Given the description of an element on the screen output the (x, y) to click on. 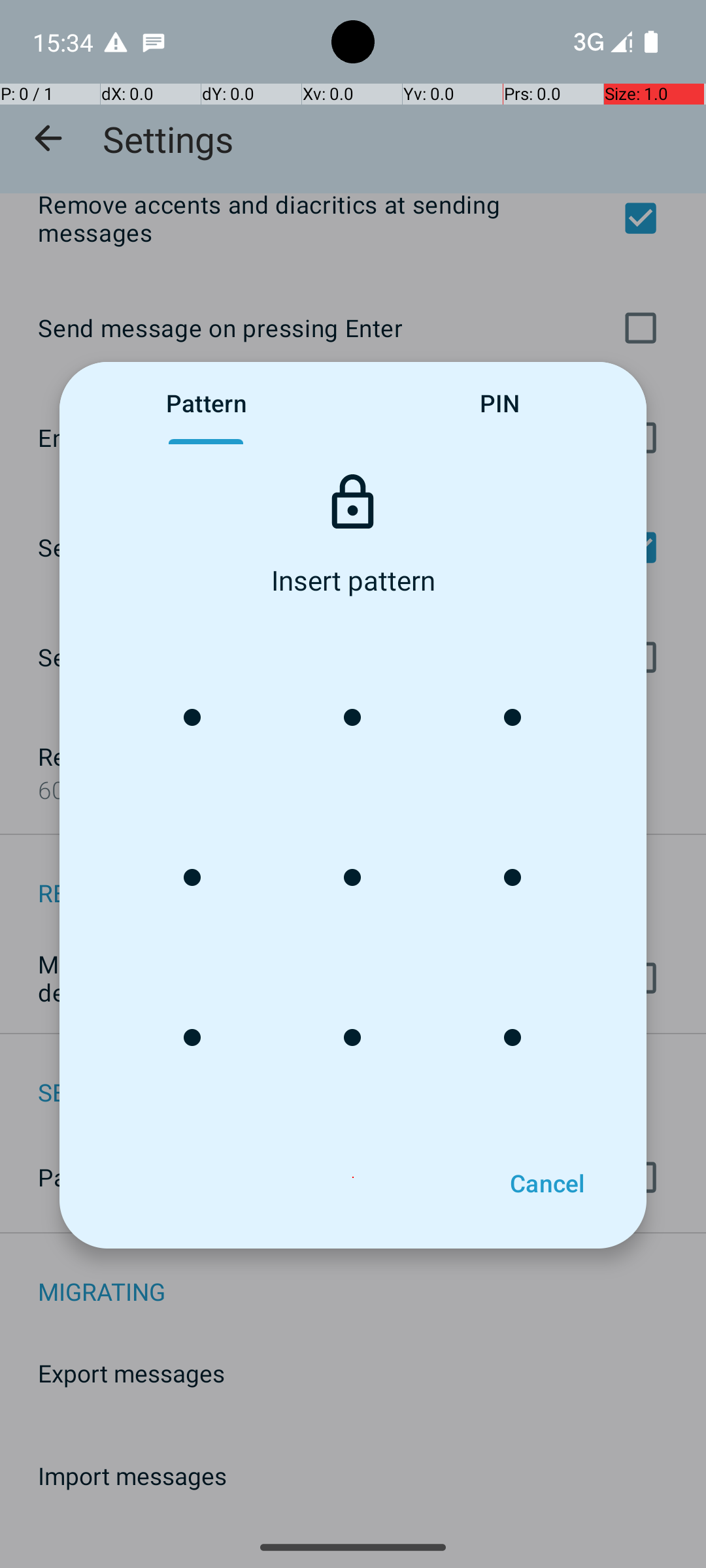
Pattern Element type: android.widget.LinearLayout (206, 402)
PIN Element type: android.widget.LinearLayout (499, 402)
Insert pattern Element type: android.widget.TextView (352, 585)
